Given the description of an element on the screen output the (x, y) to click on. 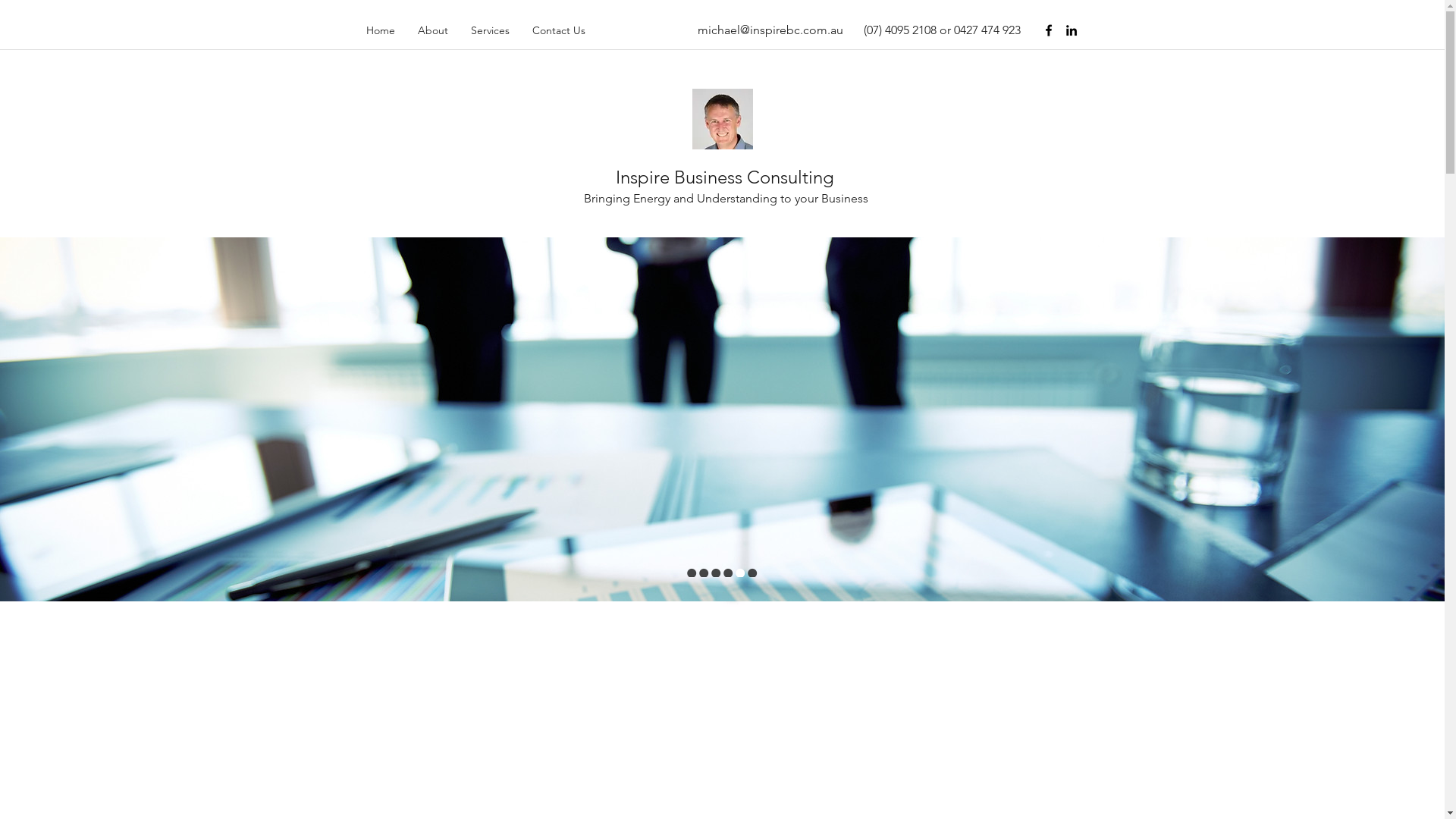
Contact Us Element type: text (558, 29)
About Element type: text (432, 29)
michael@inspirebc.com.au Element type: text (770, 29)
Home Element type: text (380, 29)
